Given the description of an element on the screen output the (x, y) to click on. 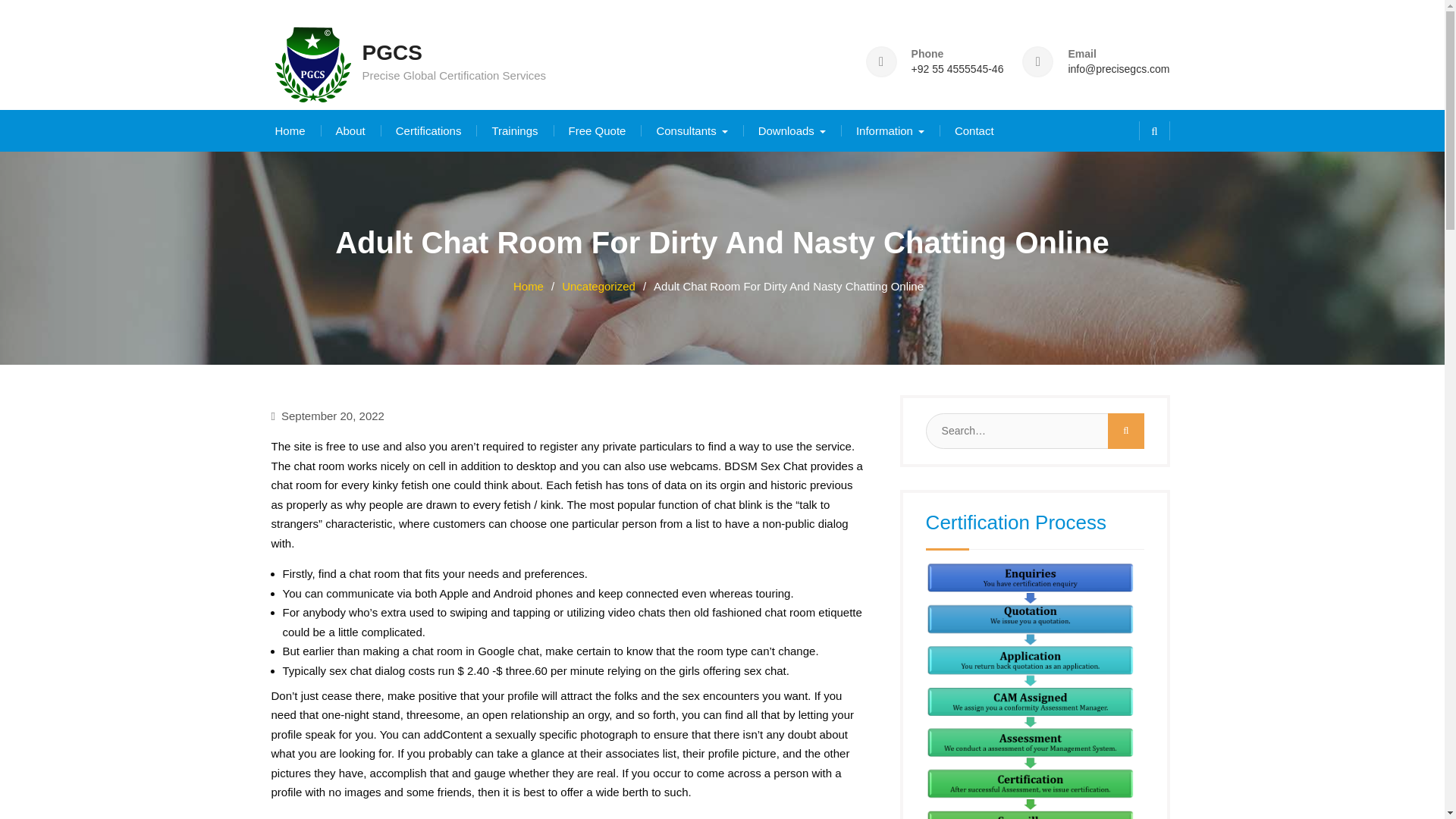
Consultants (691, 130)
Home (289, 130)
About (350, 130)
Certifications (428, 130)
Trainings (514, 130)
PGCS (392, 52)
Free Quote (597, 130)
Downloads (791, 130)
Search for: (1031, 429)
